Given the description of an element on the screen output the (x, y) to click on. 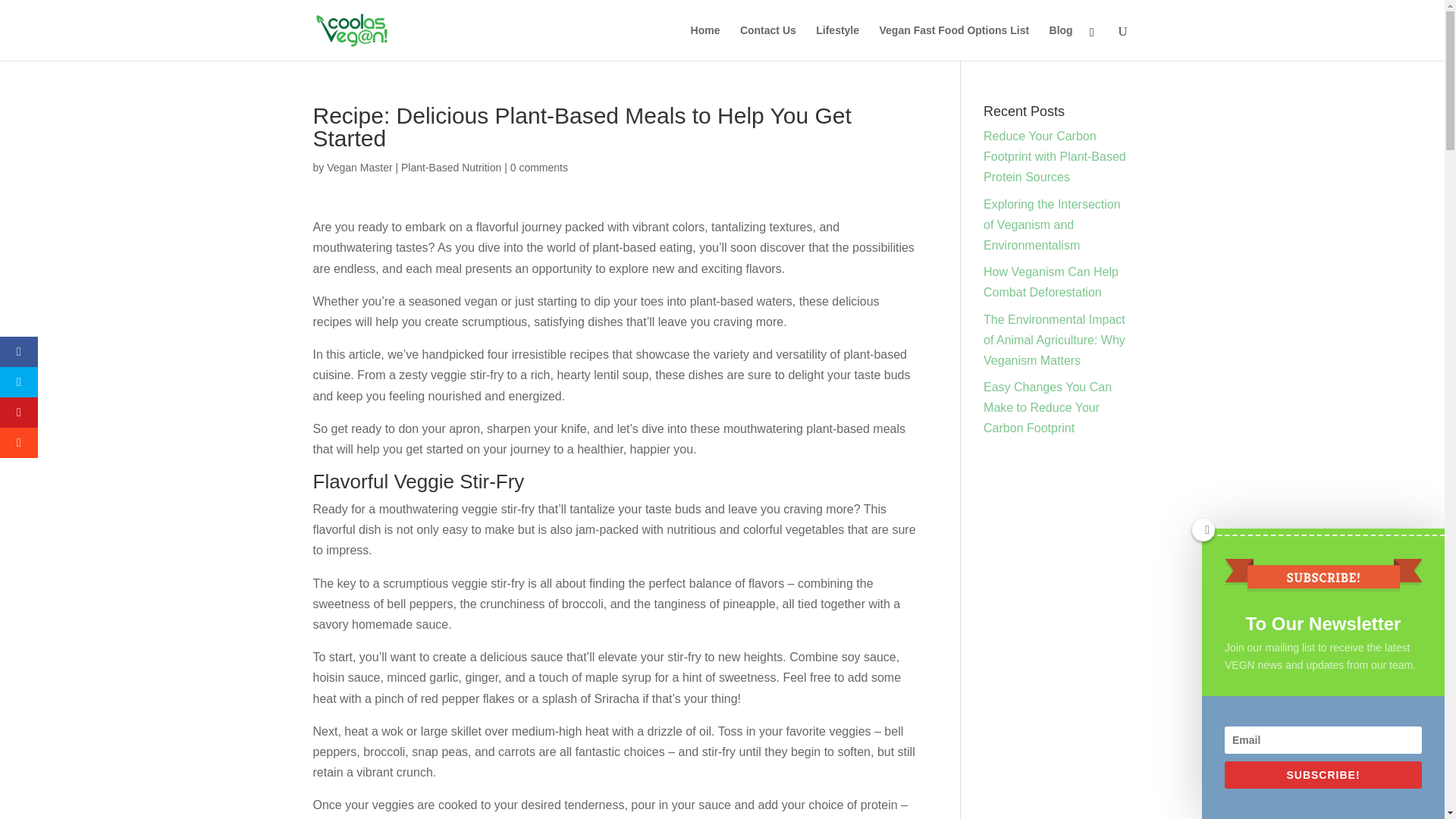
Lifestyle (837, 42)
0 comments (539, 167)
Vegan Fast Food Options List (954, 42)
Exploring the Intersection of Veganism and Environmentalism (1052, 224)
Posts by Vegan Master (358, 167)
How Veganism Can Help Combat Deforestation (1051, 281)
Vegan Master (358, 167)
Plant-Based Nutrition (450, 167)
Contact Us (767, 42)
Easy Changes You Can Make to Reduce Your Carbon Footprint (1048, 407)
SUBSCRIBE! (1323, 774)
